Given the description of an element on the screen output the (x, y) to click on. 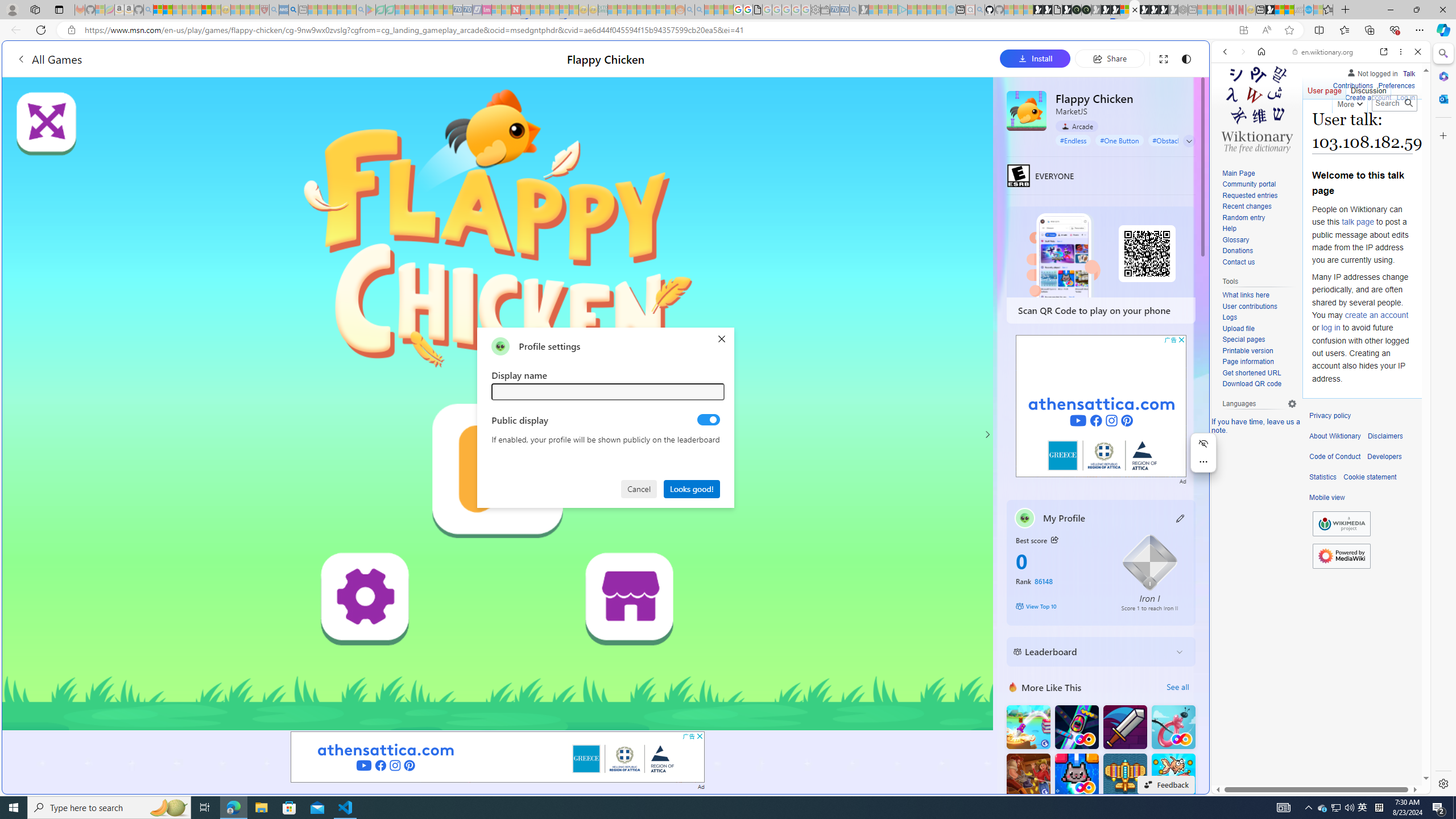
AutomationID: canvas (497, 403)
Powered by MediaWiki (1341, 556)
All Games (49, 58)
AutomationID: footer-poweredbyico (1341, 555)
#Endless (1073, 140)
EVERYONE (1018, 175)
Privacy policy (1329, 415)
Sign in to your account (1124, 9)
